Given the description of an element on the screen output the (x, y) to click on. 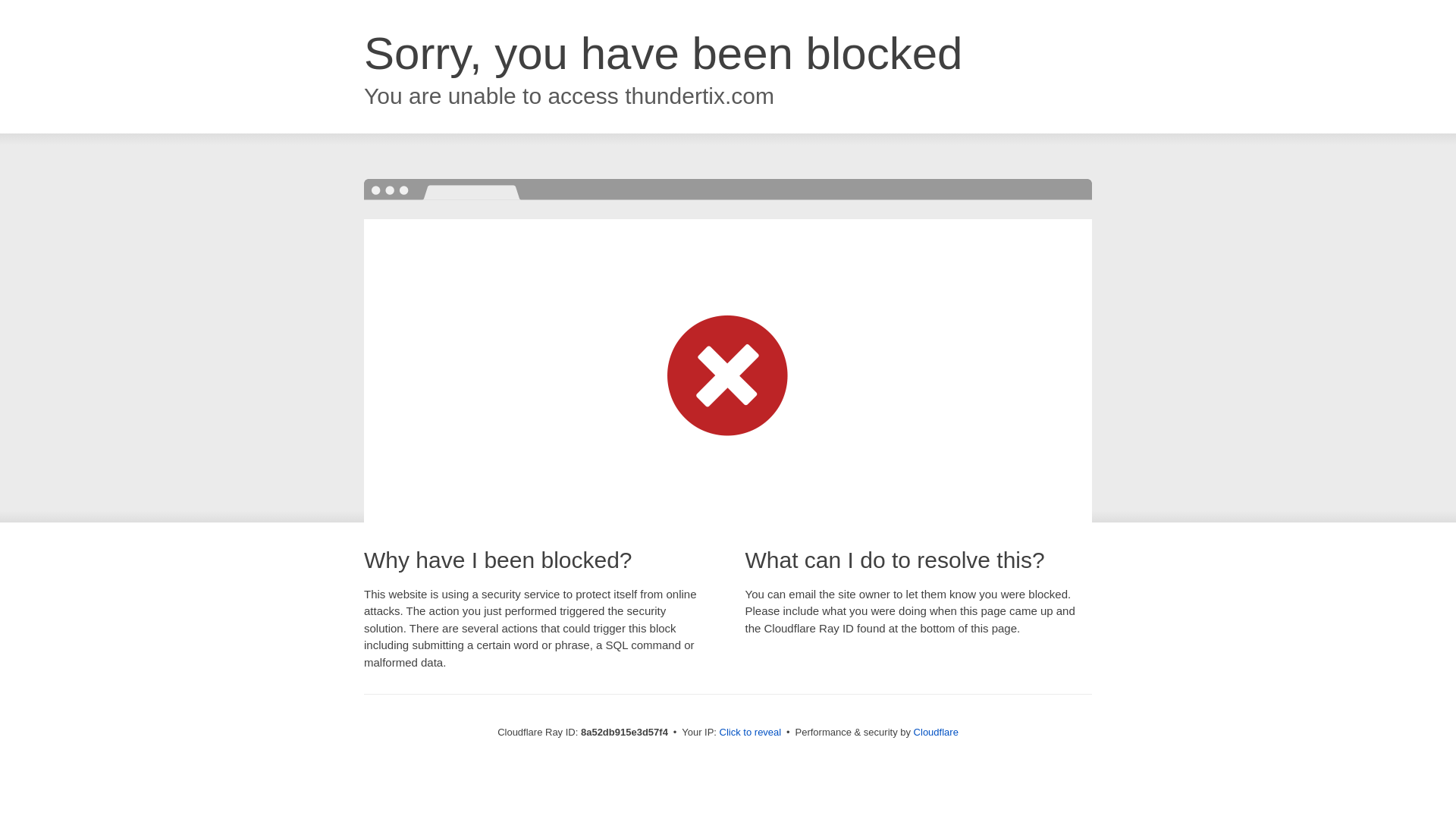
Cloudflare (936, 731)
Click to reveal (750, 732)
